Given the description of an element on the screen output the (x, y) to click on. 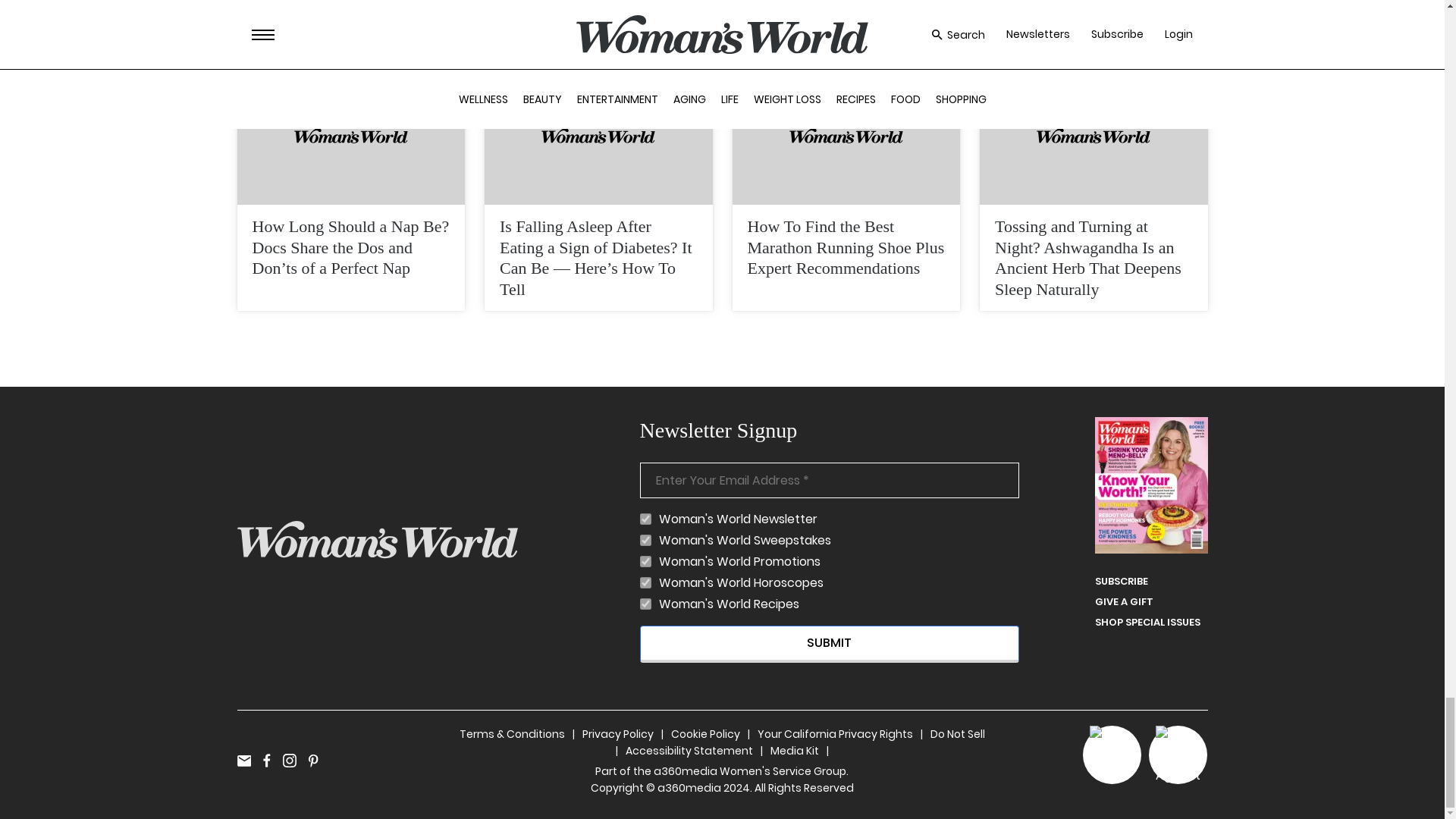
1 (645, 603)
1 (645, 561)
1 (645, 582)
1 (645, 540)
1 (645, 518)
